Given the description of an element on the screen output the (x, y) to click on. 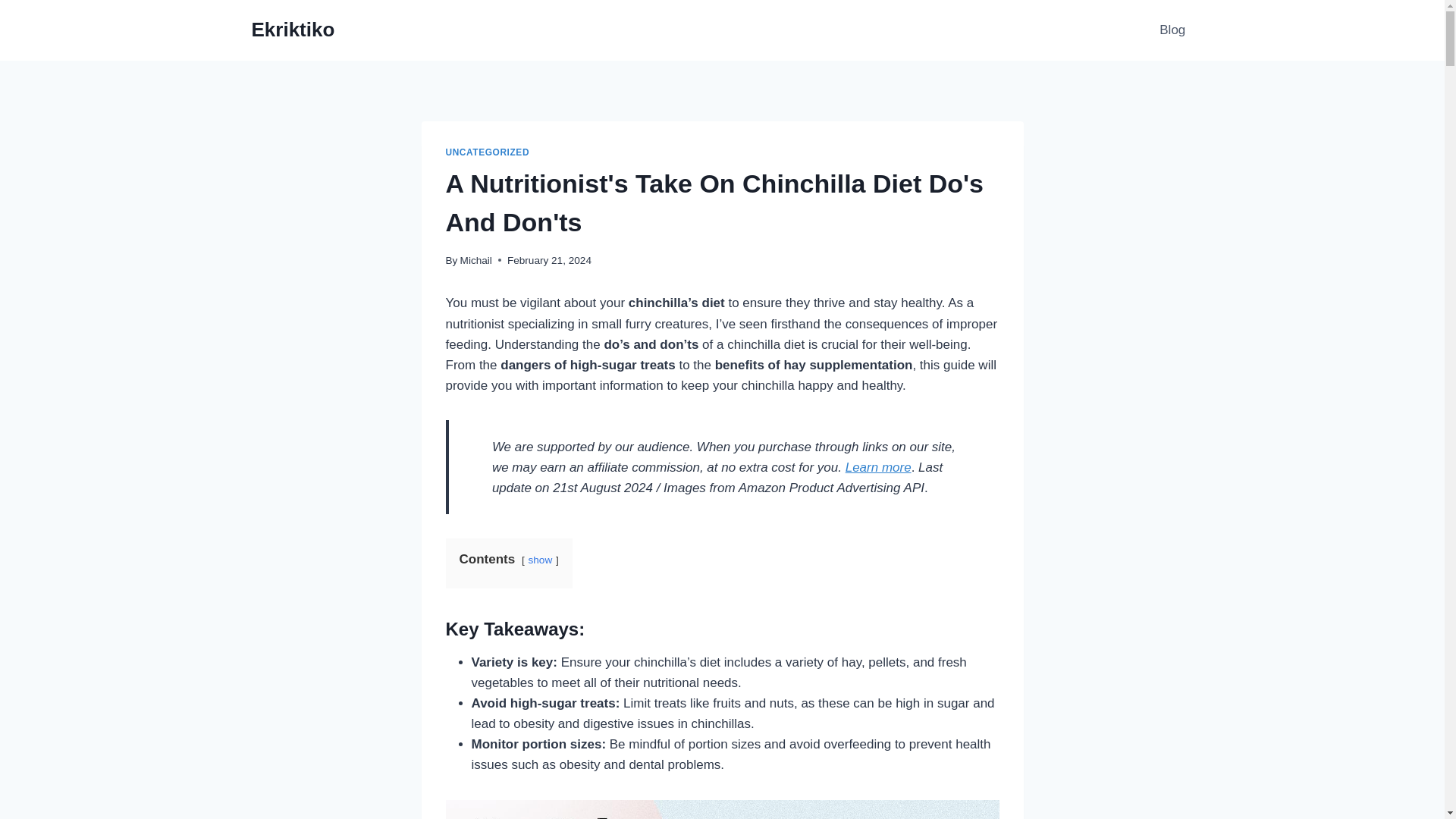
Michail (476, 260)
UNCATEGORIZED (487, 152)
Learn more (878, 467)
Ekriktiko (292, 29)
show (539, 559)
Blog (1171, 30)
